Given the description of an element on the screen output the (x, y) to click on. 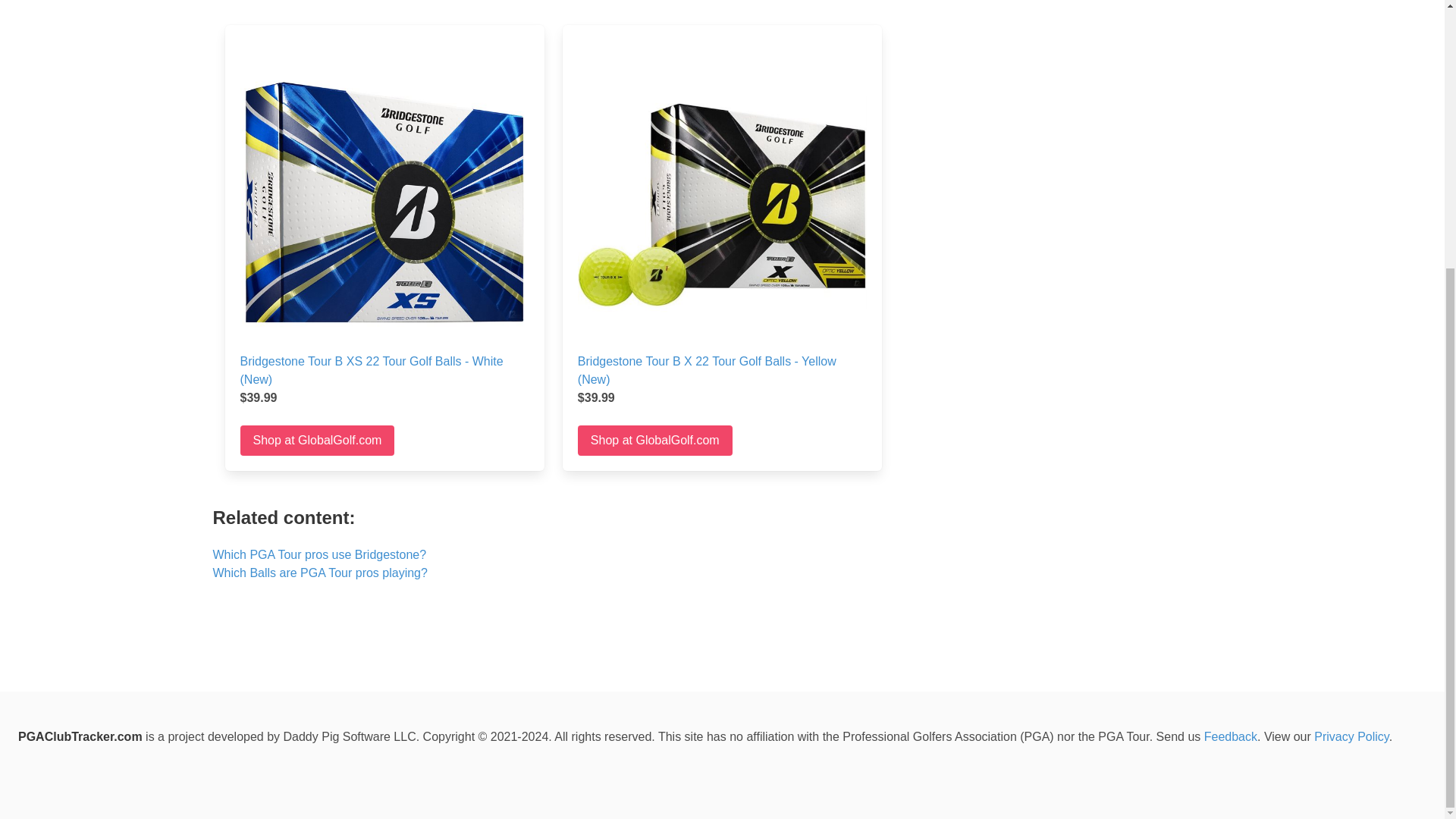
Which PGA Tour pros use Bridgestone? (319, 554)
Privacy Policy (1351, 736)
Shop at GlobalGolf.com (317, 440)
Which Balls are PGA Tour pros playing? (319, 572)
Shop at GlobalGolf.com (655, 440)
Feedback (1230, 736)
